Given the description of an element on the screen output the (x, y) to click on. 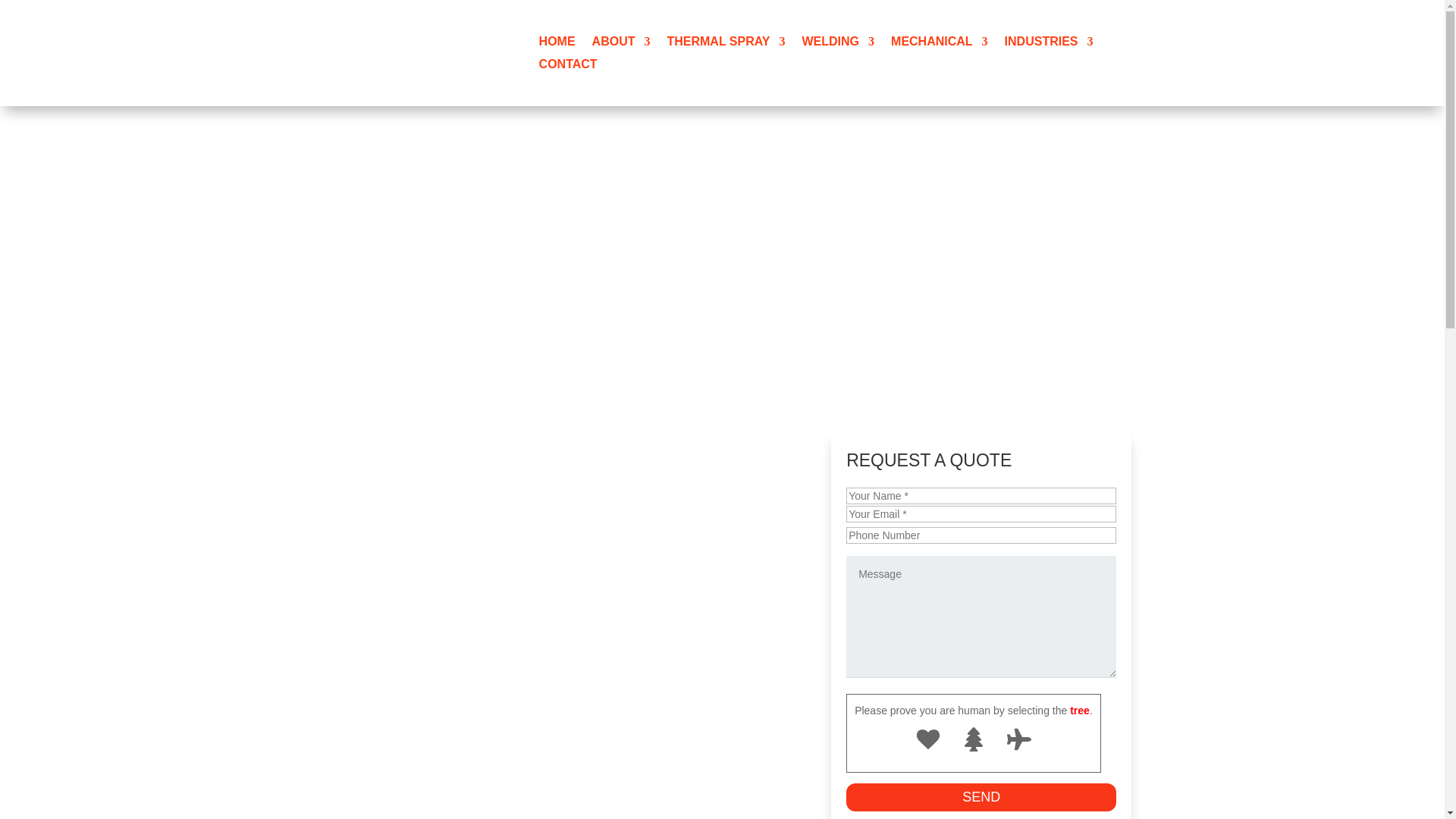
THERMAL SPRAY (725, 44)
ABOUT (621, 44)
INDUSTRIES (1048, 44)
CONTACT (567, 67)
IRS-Option-11 (416, 53)
SEND (980, 796)
HOME (556, 44)
WELDING (838, 44)
MECHANICAL (939, 44)
